Given the description of an element on the screen output the (x, y) to click on. 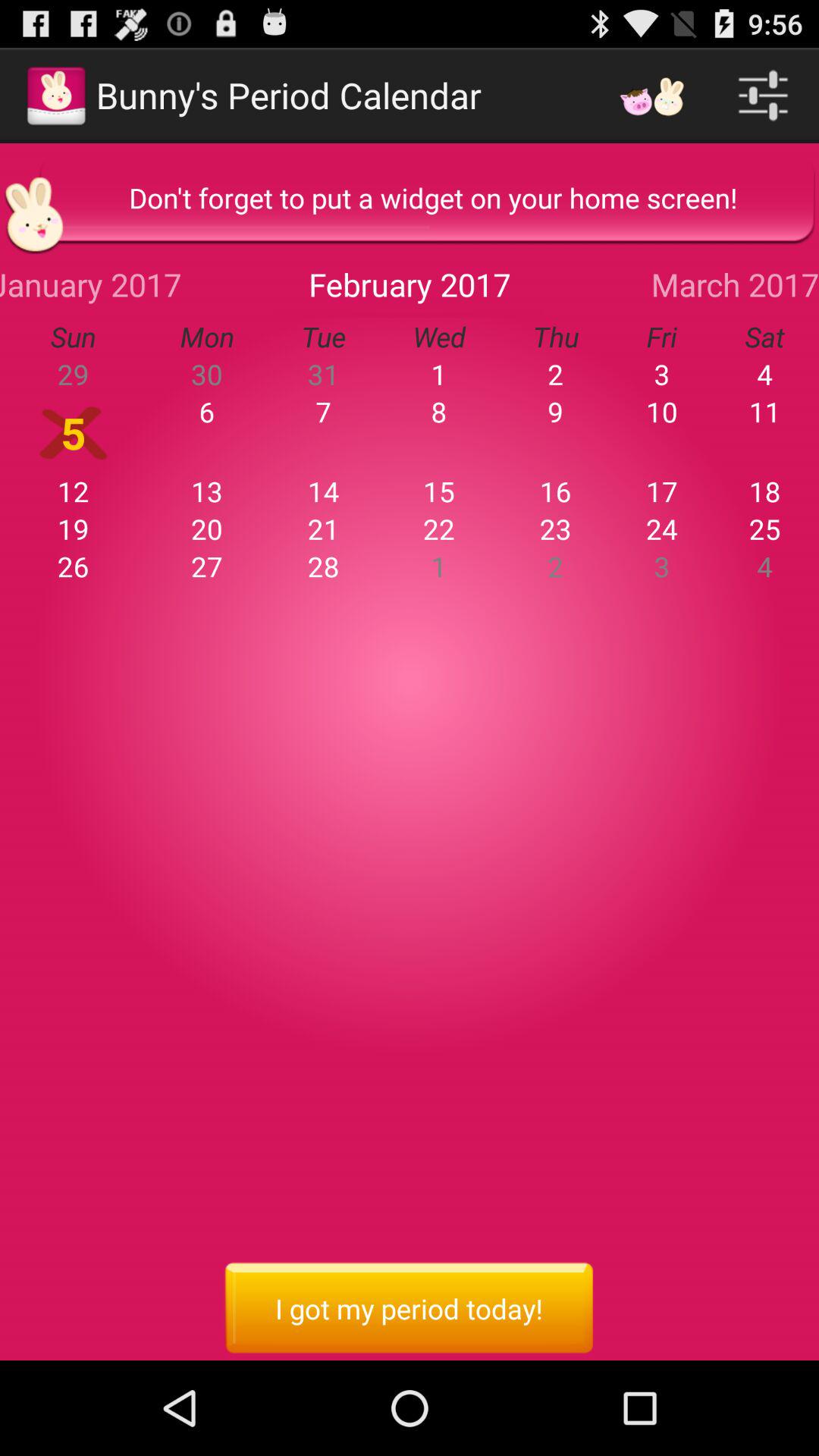
turn on item to the right of the 19 item (206, 566)
